Given the description of an element on the screen output the (x, y) to click on. 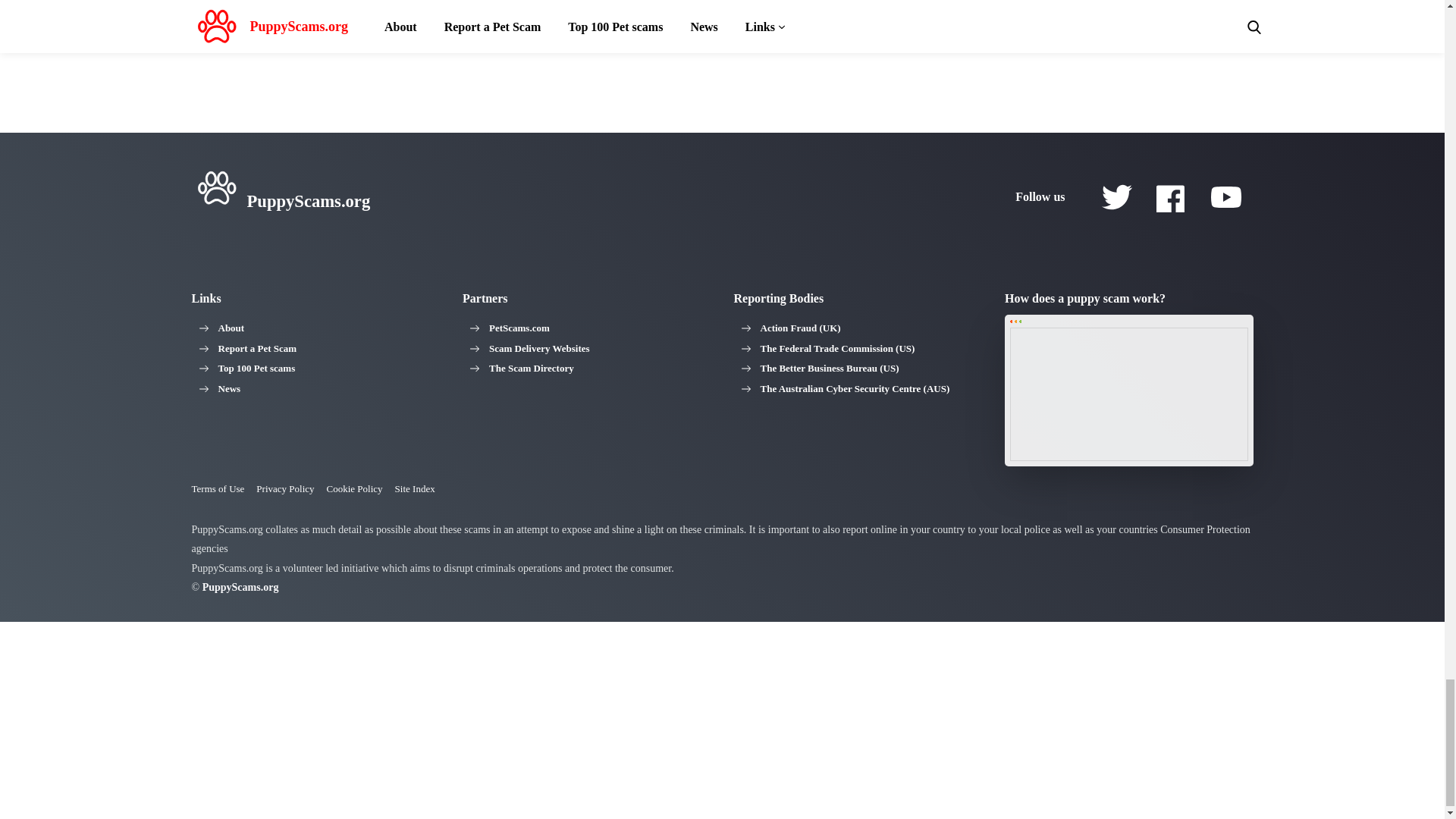
Facebook (1171, 196)
Twitter (1115, 196)
YouTube (1224, 196)
